Given the description of an element on the screen output the (x, y) to click on. 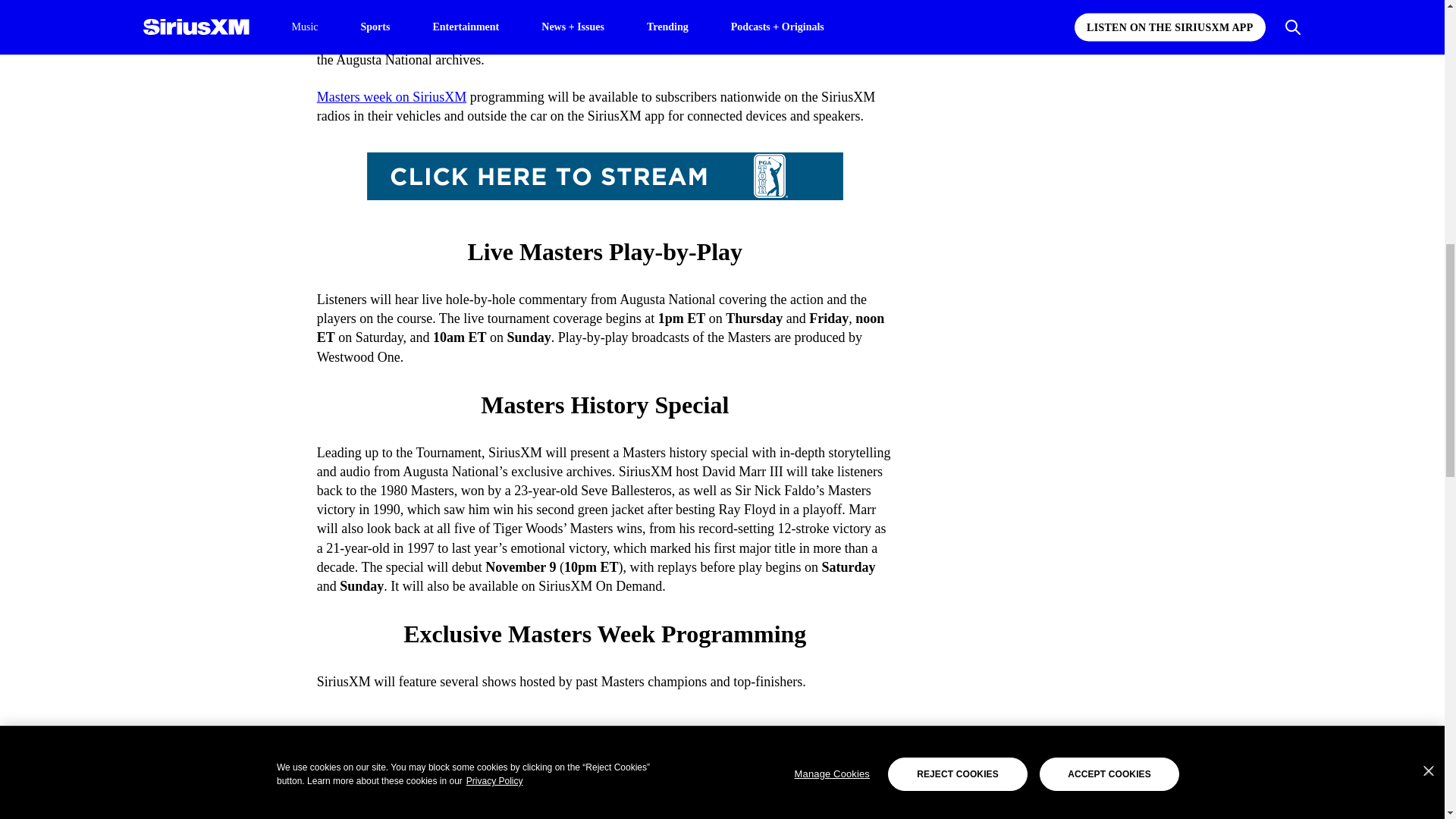
Masters week on SiriusXM (391, 96)
